Given the description of an element on the screen output the (x, y) to click on. 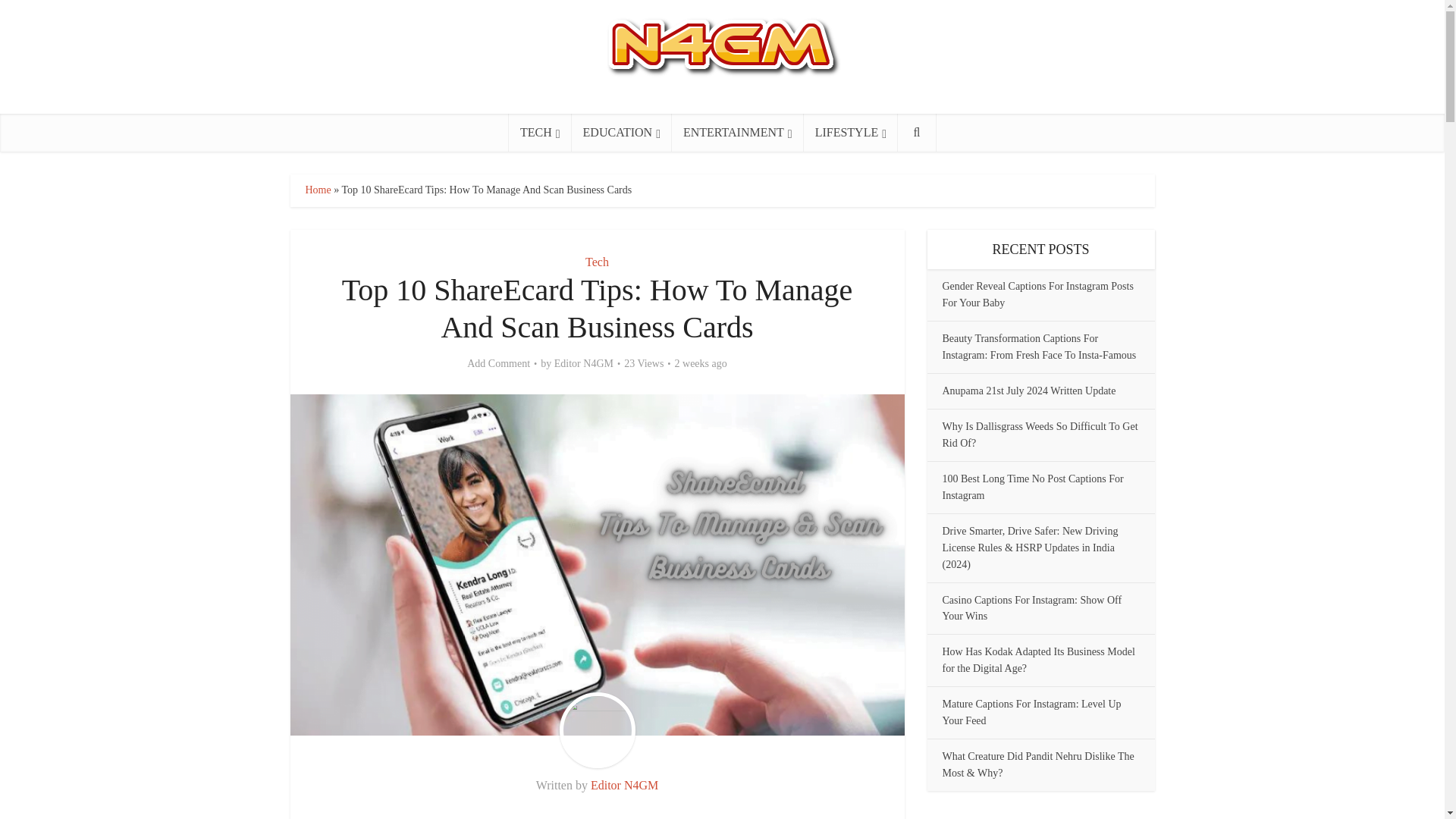
TECH (540, 132)
EDUCATION (621, 132)
ENTERTAINMENT (737, 132)
LIFESTYLE (850, 132)
